Given the description of an element on the screen output the (x, y) to click on. 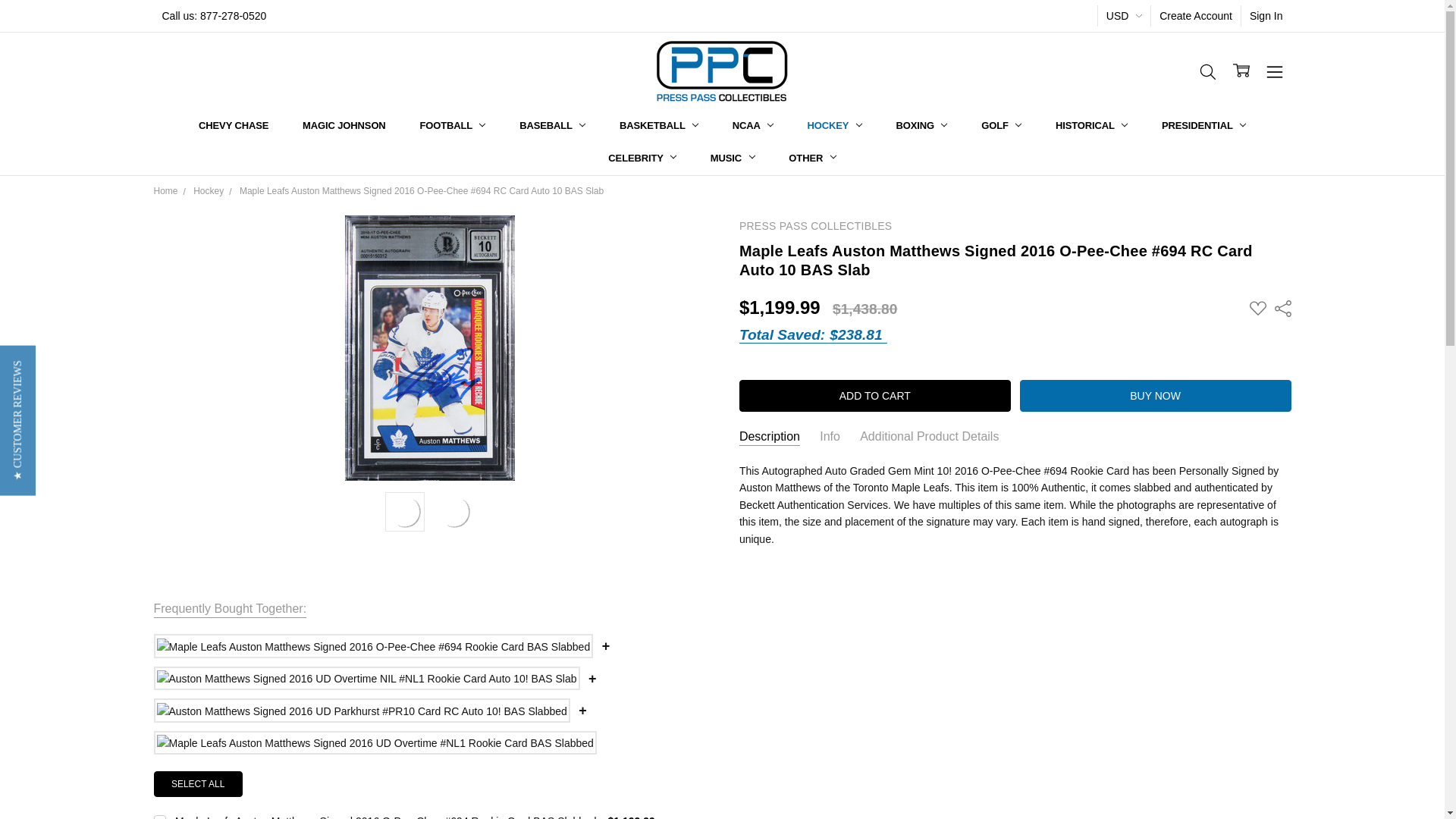
Call us: 877-278-0520 (213, 15)
CHEVY CHASE (233, 125)
Show All (747, 126)
MAGIC JOHNSON (344, 125)
Press Pass Collectibles (721, 70)
Buy Now (1155, 395)
BASEBALL (552, 125)
Create Account (1195, 15)
FOOTBALL (452, 125)
USD (1123, 15)
